Given the description of an element on the screen output the (x, y) to click on. 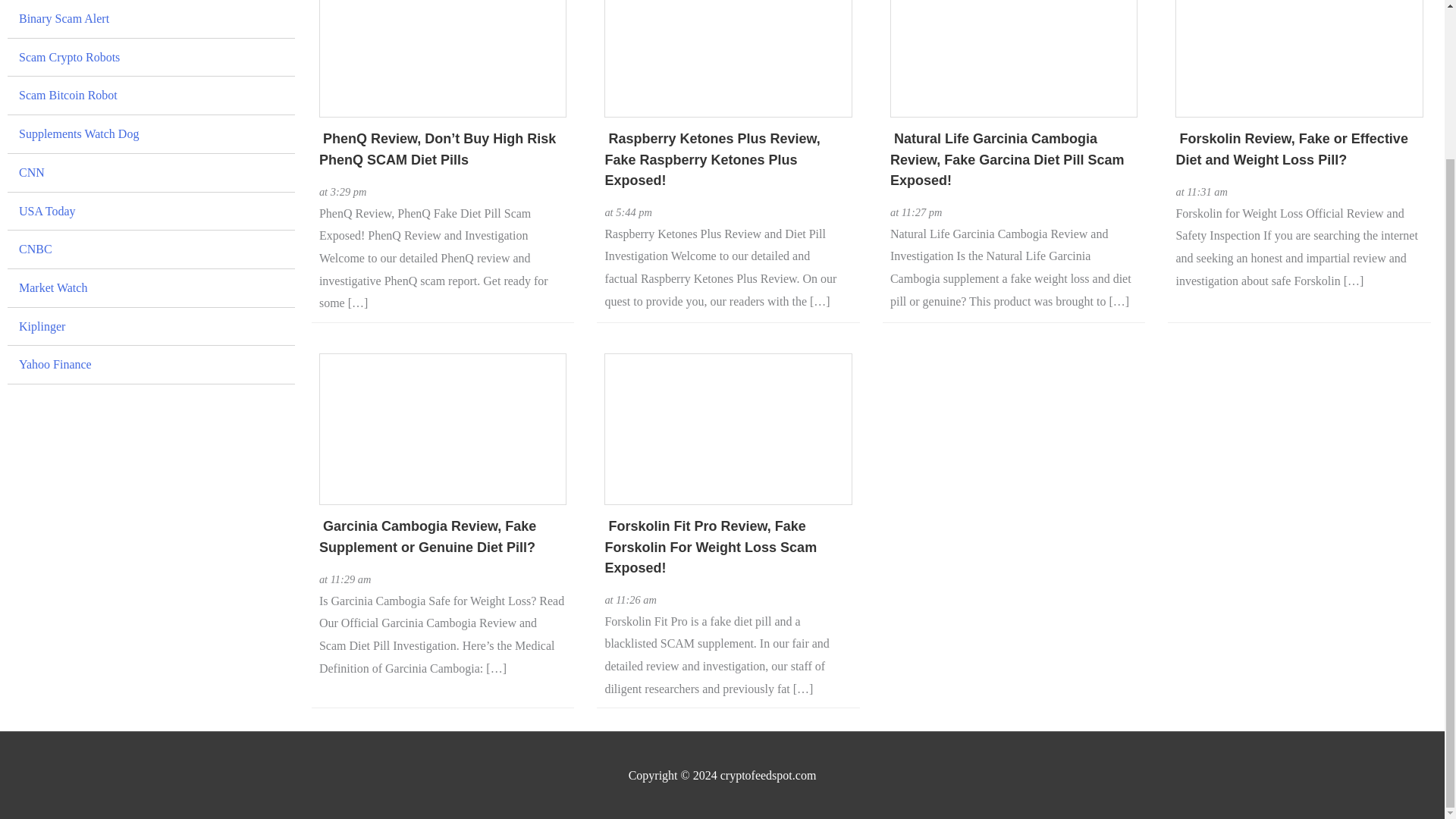
Kiplinger (151, 263)
Scam Bitcoin Robot (151, 32)
Yahoo Finance (151, 301)
CNN (151, 109)
Market Watch (151, 225)
